Given the description of an element on the screen output the (x, y) to click on. 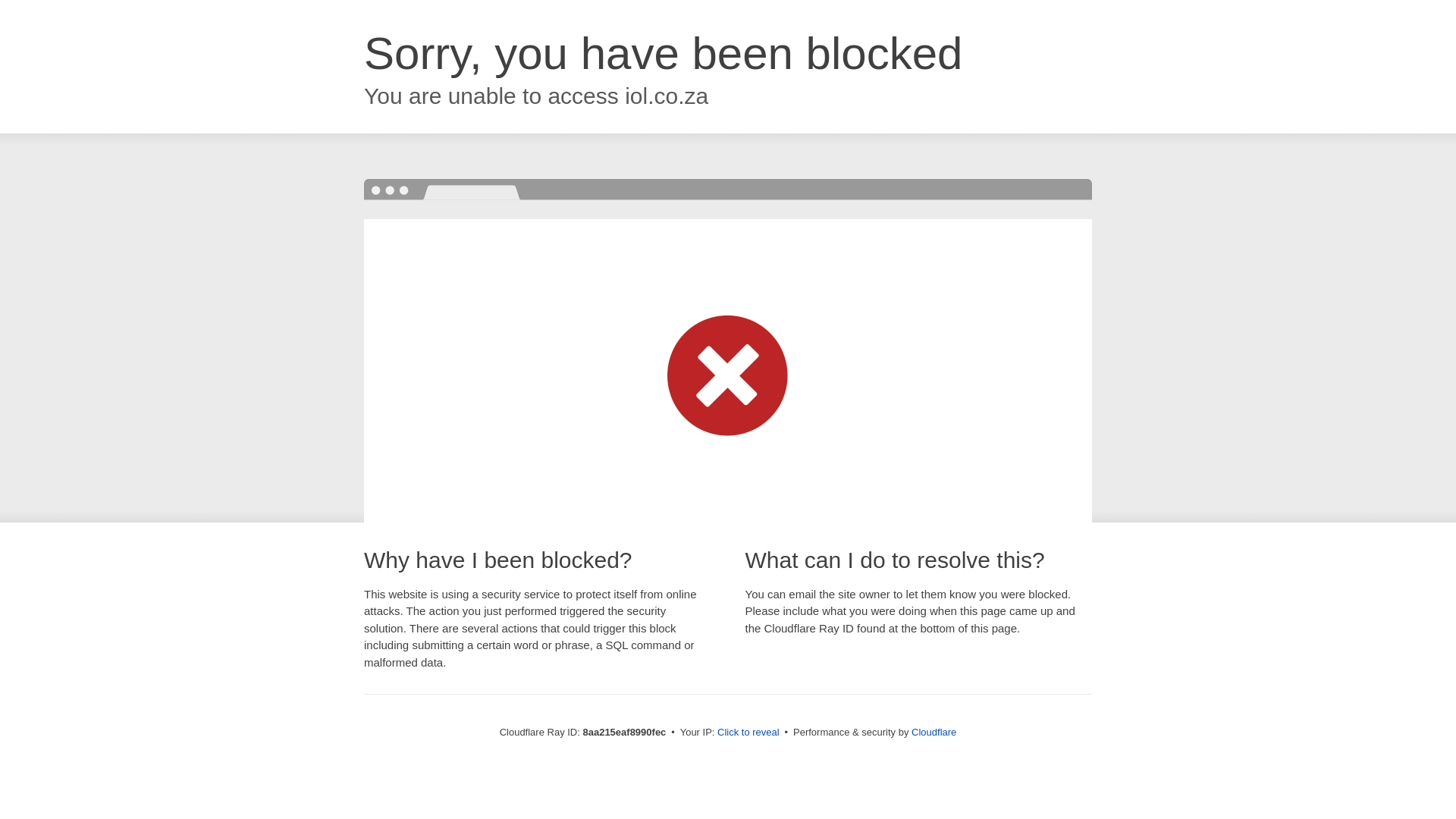
Click to reveal (747, 732)
Cloudflare (933, 731)
